Given the description of an element on the screen output the (x, y) to click on. 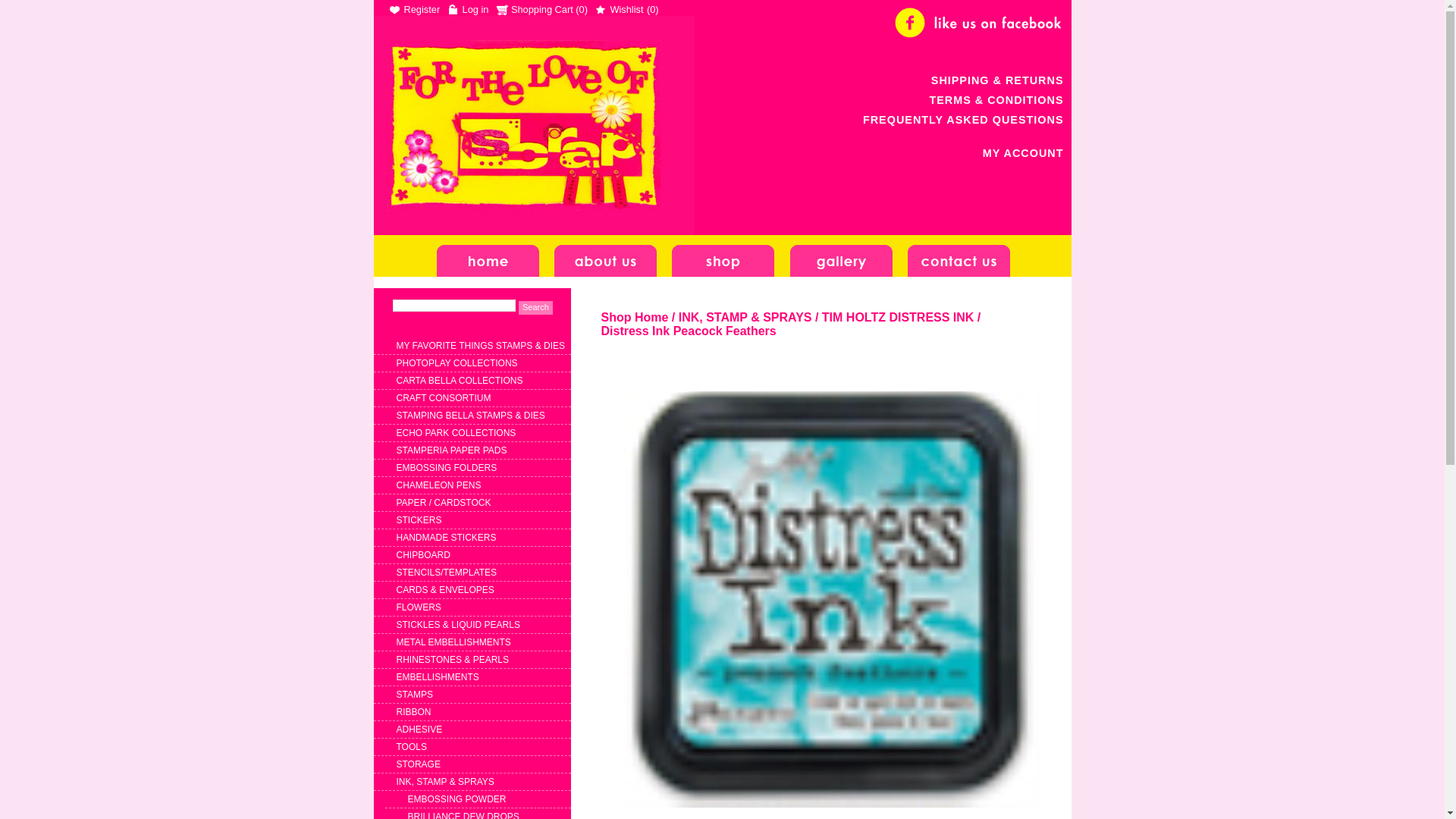
  Element type: text (533, 125)
CHAMELEON PENS Element type: text (437, 485)
EMBOSSING FOLDERS Element type: text (445, 467)
STORAGE Element type: text (417, 764)
home Element type: hover (487, 255)
STENCILS/TEMPLATES Element type: text (445, 572)
MY FAVORITE THINGS STAMPS & DIES Element type: text (479, 345)
HANDMADE STICKERS Element type: text (445, 537)
STAMPS Element type: text (413, 694)
contact us link Element type: hover (958, 255)
ECHO PARK COLLECTIONS Element type: text (455, 432)
Distress Ink Peacock Feathers Element type: text (687, 330)
TIM HOLTZ DISTRESS INK Element type: text (898, 316)
Search Element type: text (535, 307)
TOOLS Element type: text (410, 746)
RHINESTONES & PEARLS Element type: text (451, 659)
like us on facebook Element type: hover (978, 22)
STICKLES & LIQUID PEARLS Element type: text (457, 624)
CHIPBOARD Element type: text (422, 554)
RIBBON Element type: text (412, 711)
PAPER / CARDSTOCK Element type: text (442, 502)
products Element type: hover (722, 255)
CRAFT CONSORTIUM Element type: text (442, 397)
EMBELLISHMENTS Element type: text (436, 676)
Shop Home Element type: text (634, 316)
STAMPING BELLA STAMPS & DIES Element type: text (469, 415)
SHIPPING & RETURNS Element type: text (997, 80)
PHOTOPLAY COLLECTIONS Element type: text (456, 362)
MY ACCOUNT Element type: text (1023, 153)
INK, STAMP & SPRAYS Element type: text (745, 316)
STICKERS Element type: text (418, 519)
ADHESIVE Element type: text (418, 729)
CARDS & ENVELOPES Element type: text (444, 589)
Register Element type: text (413, 9)
METAL EMBELLISHMENTS Element type: text (452, 642)
Wishlist Element type: text (618, 9)
CARTA BELLA COLLECTIONS Element type: text (458, 380)
gallery Element type: hover (841, 255)
TERMS & CONDITIONS Element type: text (995, 100)
Log in Element type: text (468, 9)
about us Element type: hover (605, 255)
Shopping Cart Element type: text (535, 9)
INK, STAMP & SPRAYS Element type: text (444, 781)
Picture of Distress Ink Peacock Feathers Element type: hover (831, 599)
(0) Element type: text (652, 9)
STAMPERIA PAPER PADS Element type: text (450, 450)
FREQUENTLY ASKED QUESTIONS Element type: text (963, 119)
EMBOSSING POWDER Element type: text (456, 798)
(0) Element type: text (581, 9)
FLOWERS Element type: text (417, 607)
